Given the description of an element on the screen output the (x, y) to click on. 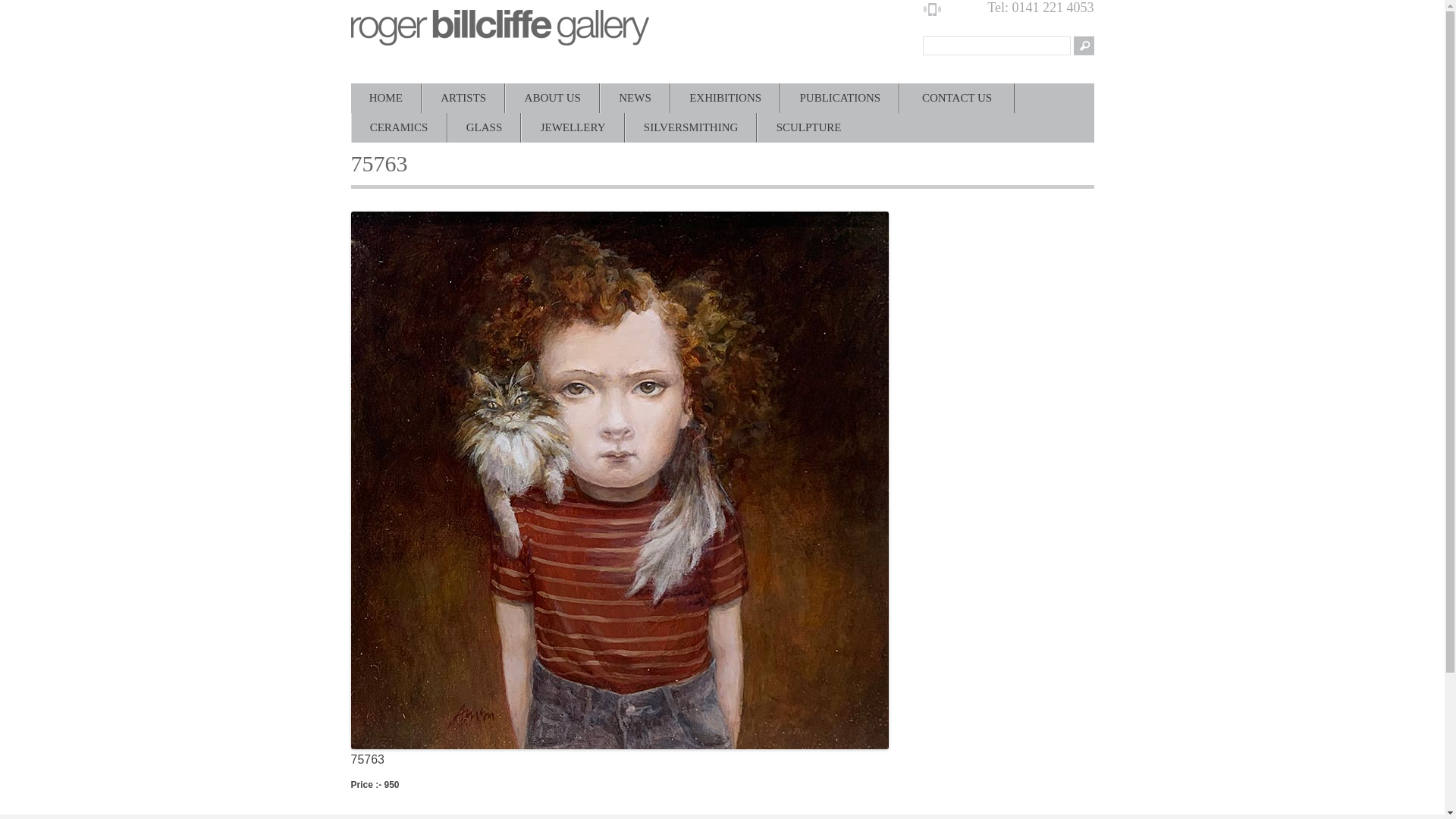
EXHIBITIONS (724, 98)
NEWS (634, 98)
GLASS (484, 127)
CONTACT US (956, 98)
CERAMICS (399, 127)
ARTISTS (462, 98)
Skip to content (417, 98)
SCULPTURE (808, 127)
HOME (385, 98)
JEWELLERY (572, 127)
ABOUT US (551, 98)
SILVERSMITHING (691, 127)
SKIP TO CONTENT (417, 98)
PUBLICATIONS (839, 98)
